Given the description of an element on the screen output the (x, y) to click on. 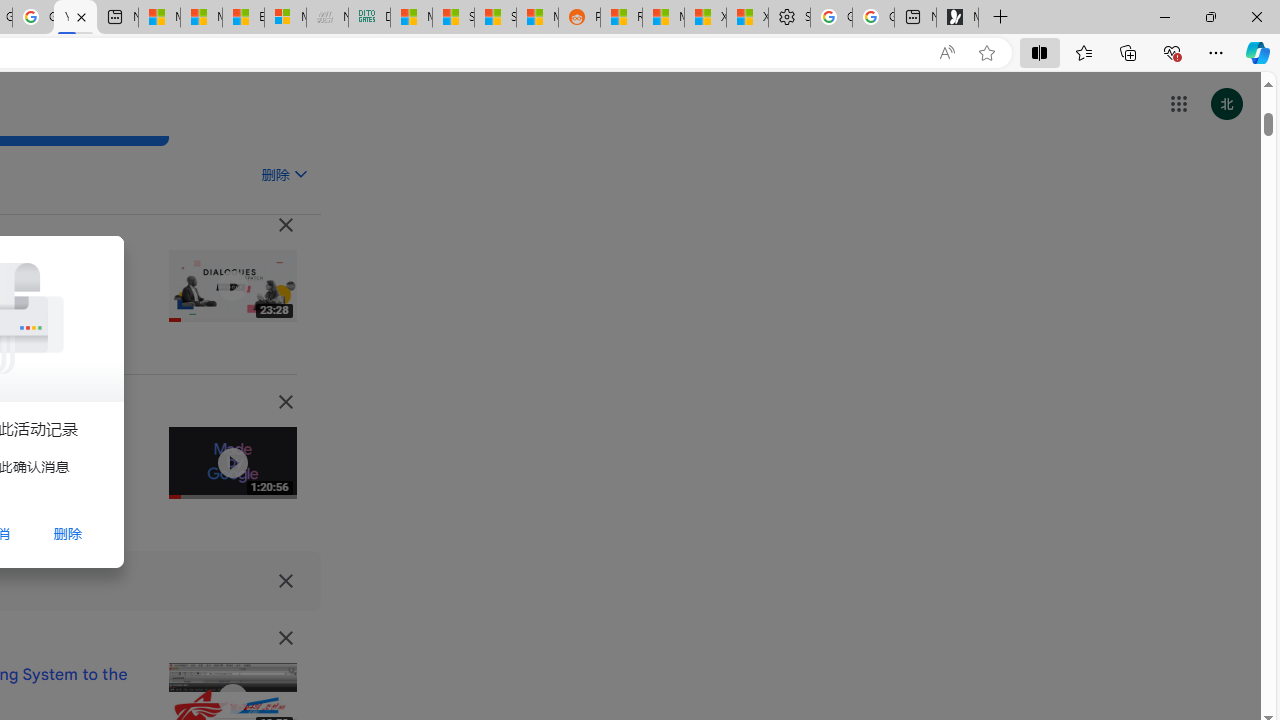
Class: TjcpUd NMm5M (285, 637)
Class: DI7Mnf NMm5M (285, 580)
